Given the description of an element on the screen output the (x, y) to click on. 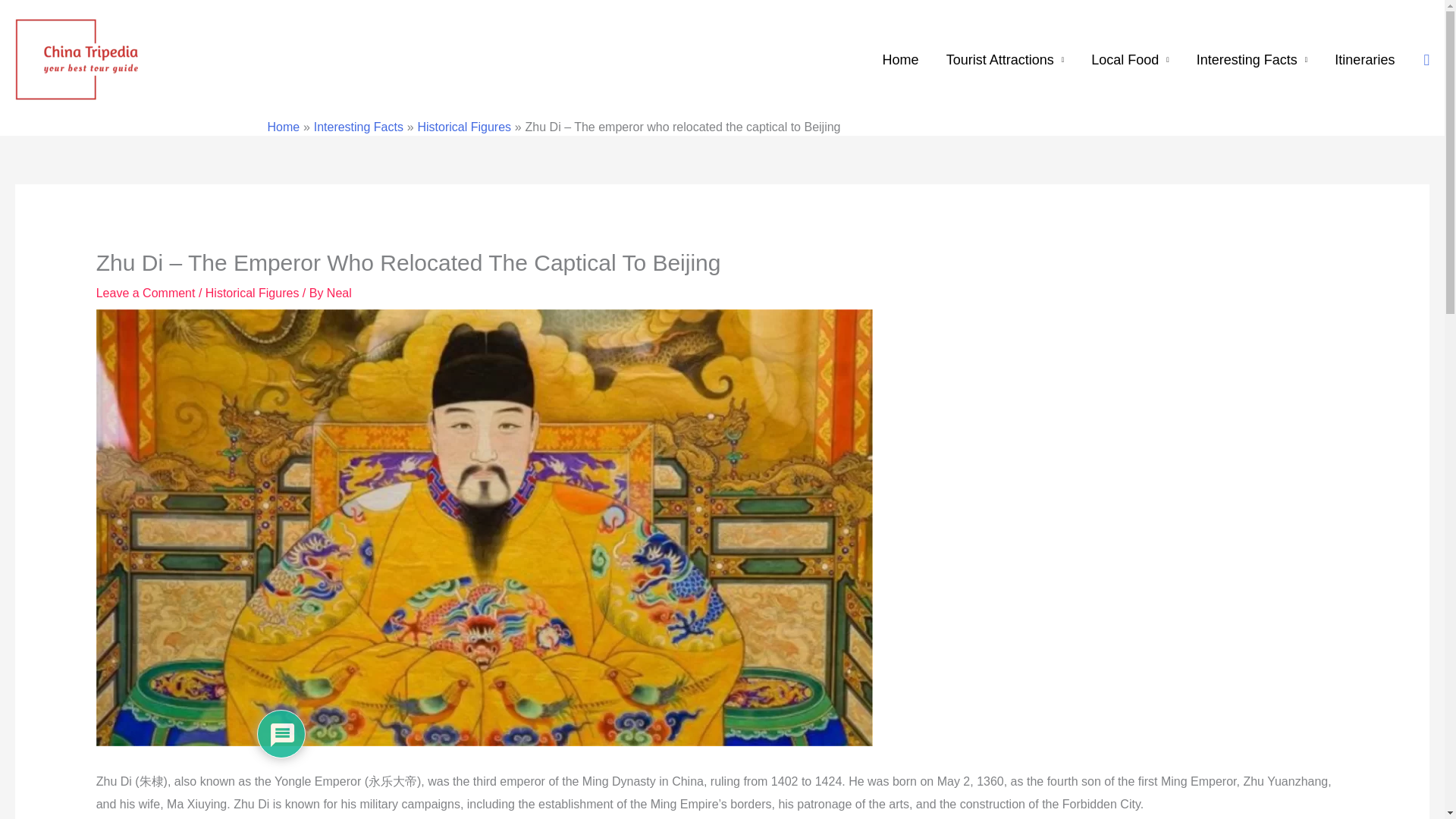
Tourist Attractions (1005, 59)
Home (901, 59)
View all posts by Neal (339, 292)
